Given the description of an element on the screen output the (x, y) to click on. 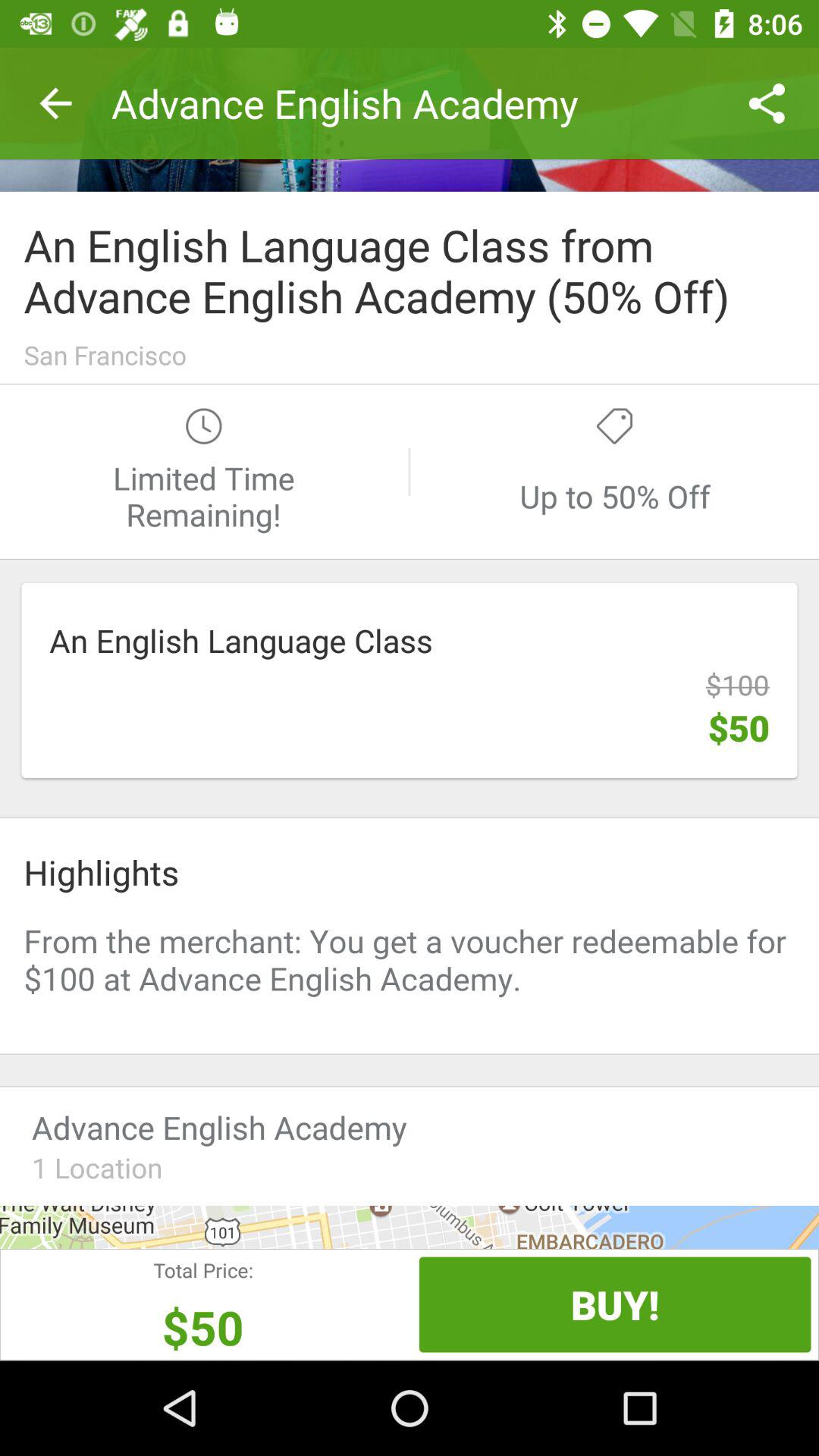
advance english academy go back and shear (409, 119)
